Given the description of an element on the screen output the (x, y) to click on. 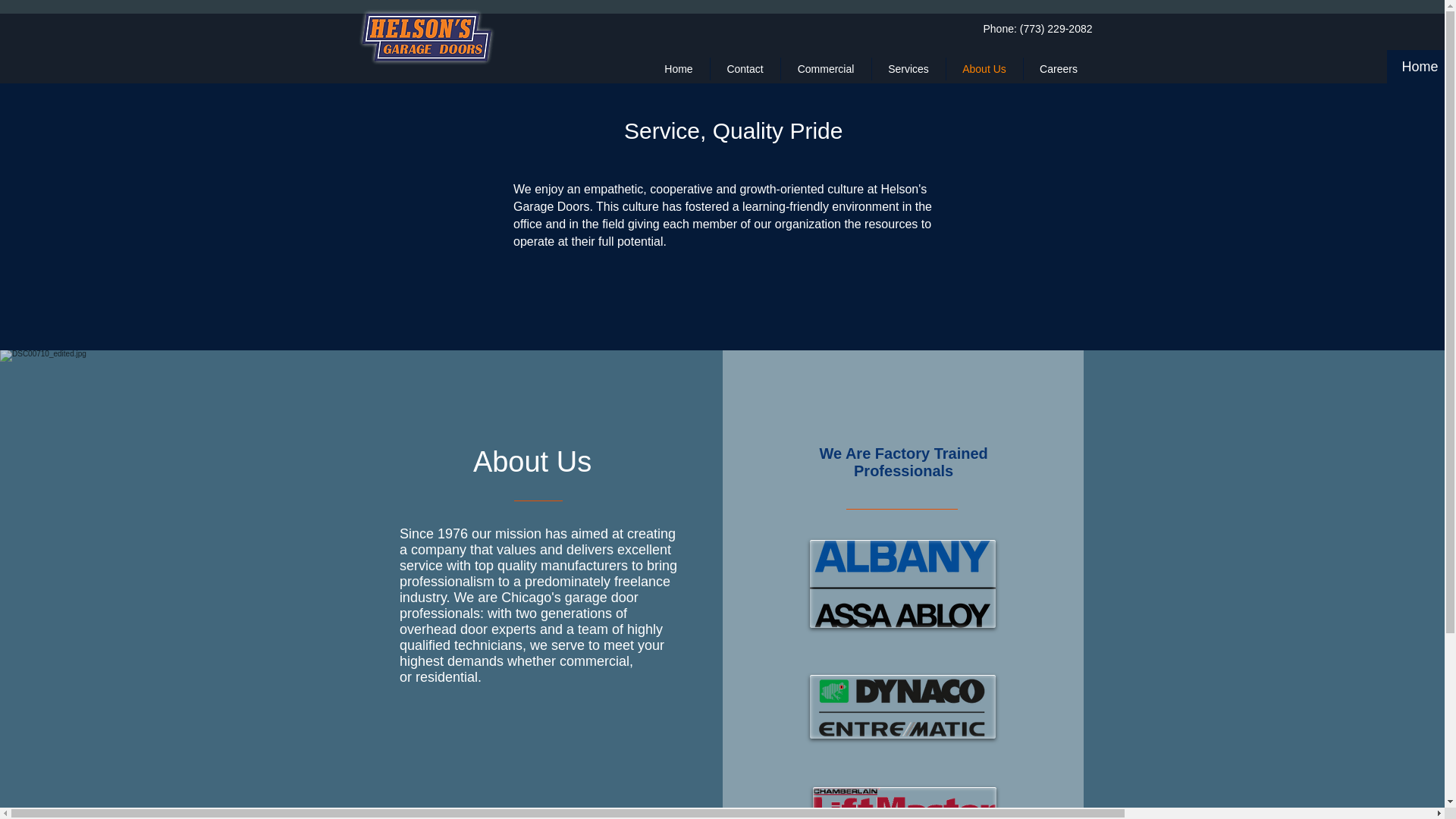
Services (908, 68)
Home (1415, 66)
Home (678, 68)
Careers (1058, 68)
Commercial (825, 68)
About Us (984, 68)
Contact (1451, 66)
Contact (744, 68)
